Given the description of an element on the screen output the (x, y) to click on. 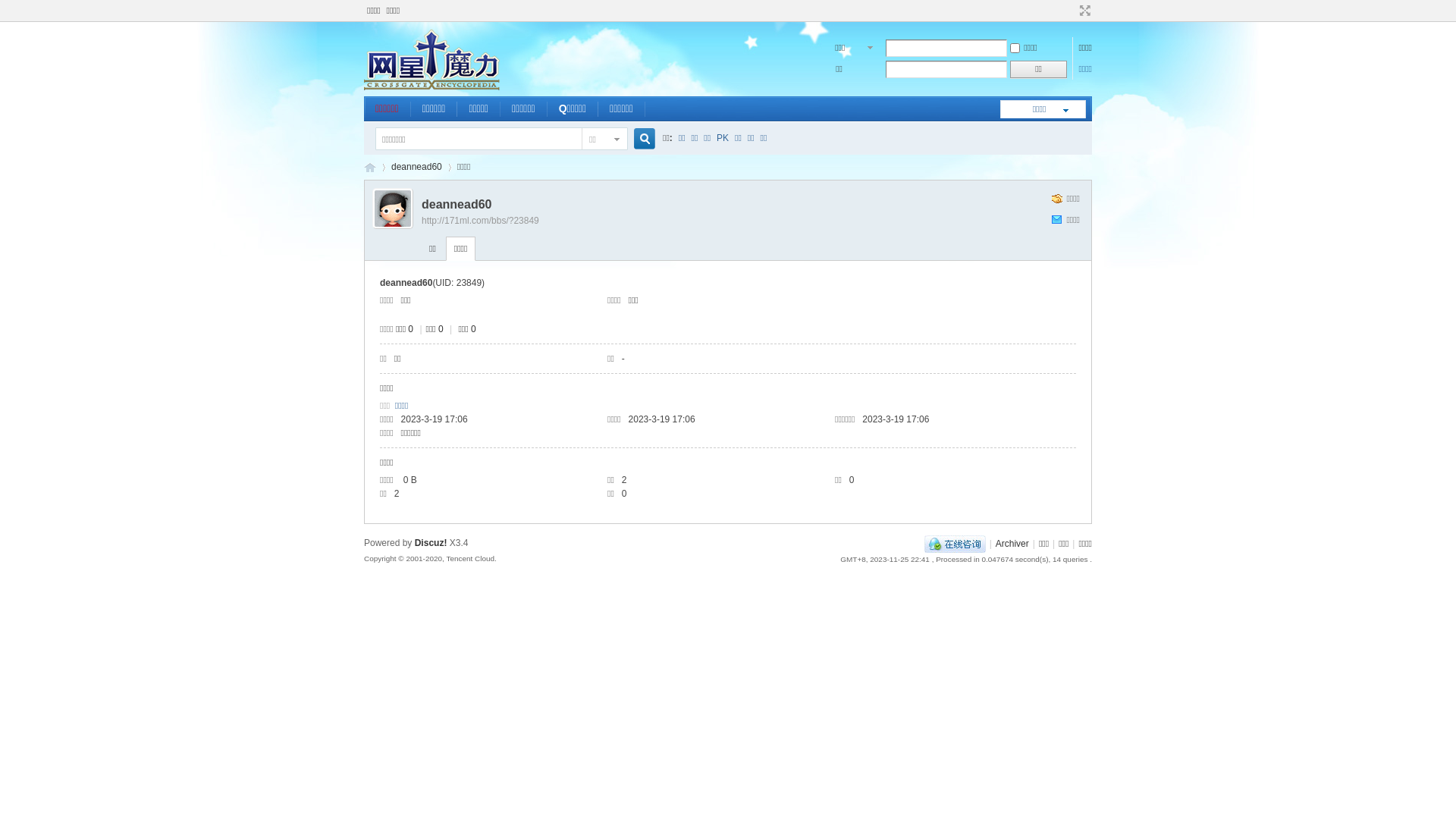
PK Element type: text (722, 137)
deannead60 Element type: text (416, 167)
true Element type: text (638, 138)
http://171ml.com/bbs/?23849 Element type: text (480, 220)
QQ Element type: hover (954, 543)
Discuz! Element type: text (430, 542)
Archiver Element type: text (1012, 543)
